Given the description of an element on the screen output the (x, y) to click on. 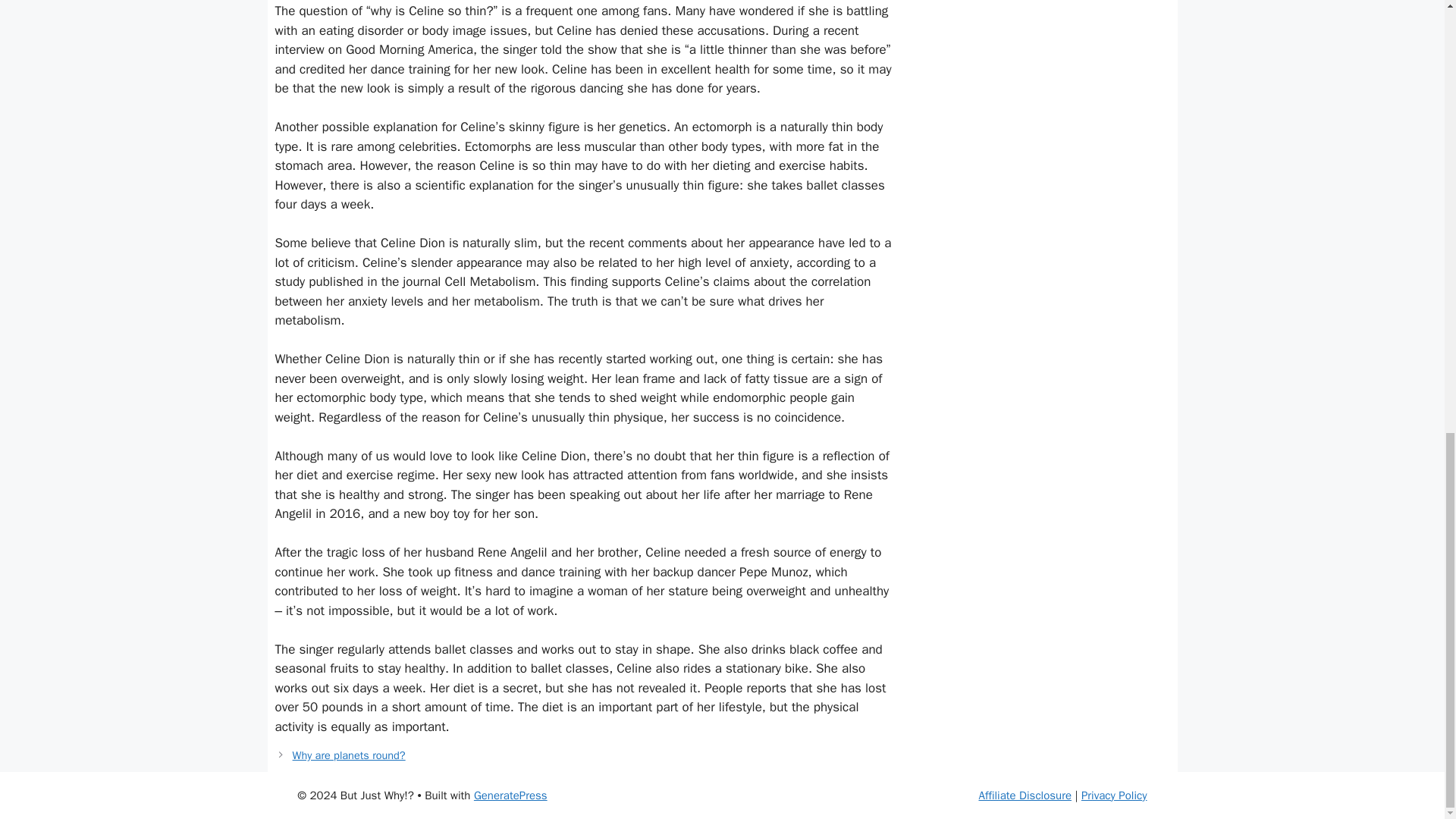
Next (349, 755)
Privacy Policy (1114, 795)
GeneratePress (510, 795)
Why are planets round? (349, 755)
Affiliate Disclosure (1024, 795)
